Given the description of an element on the screen output the (x, y) to click on. 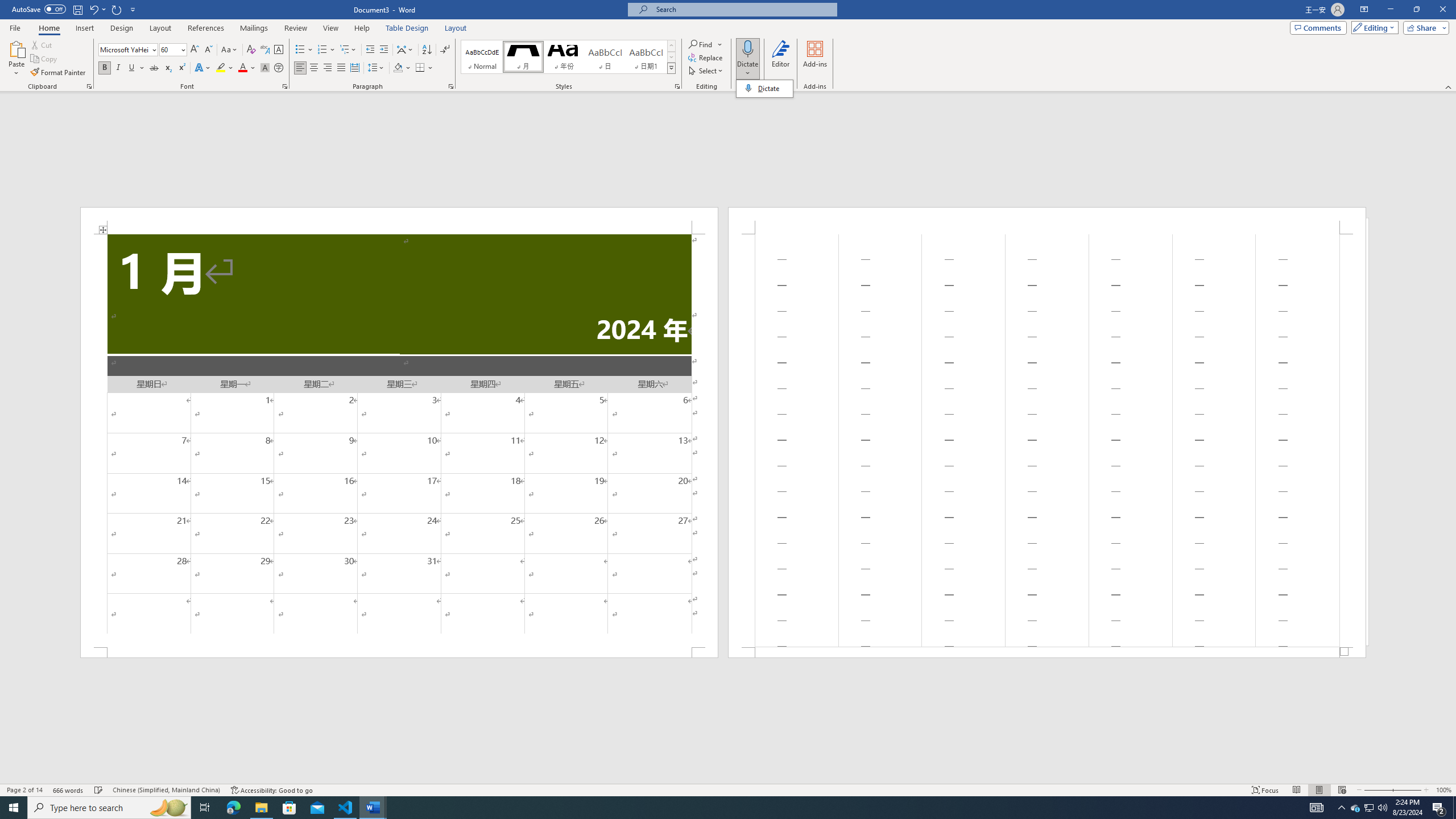
Row up (670, 45)
Justify (340, 67)
File Explorer - 1 running window (261, 807)
User Promoted Notification Area (1368, 807)
Styles... (676, 85)
Select (705, 69)
Borders (424, 67)
Close (1442, 9)
Repeat Doc Close (117, 9)
Borders (419, 67)
Customize Quick Access Toolbar (133, 9)
Visual Studio Code - 1 running window (345, 807)
Bold (104, 67)
Spelling and Grammar Check Checking (98, 790)
